Given the description of an element on the screen output the (x, y) to click on. 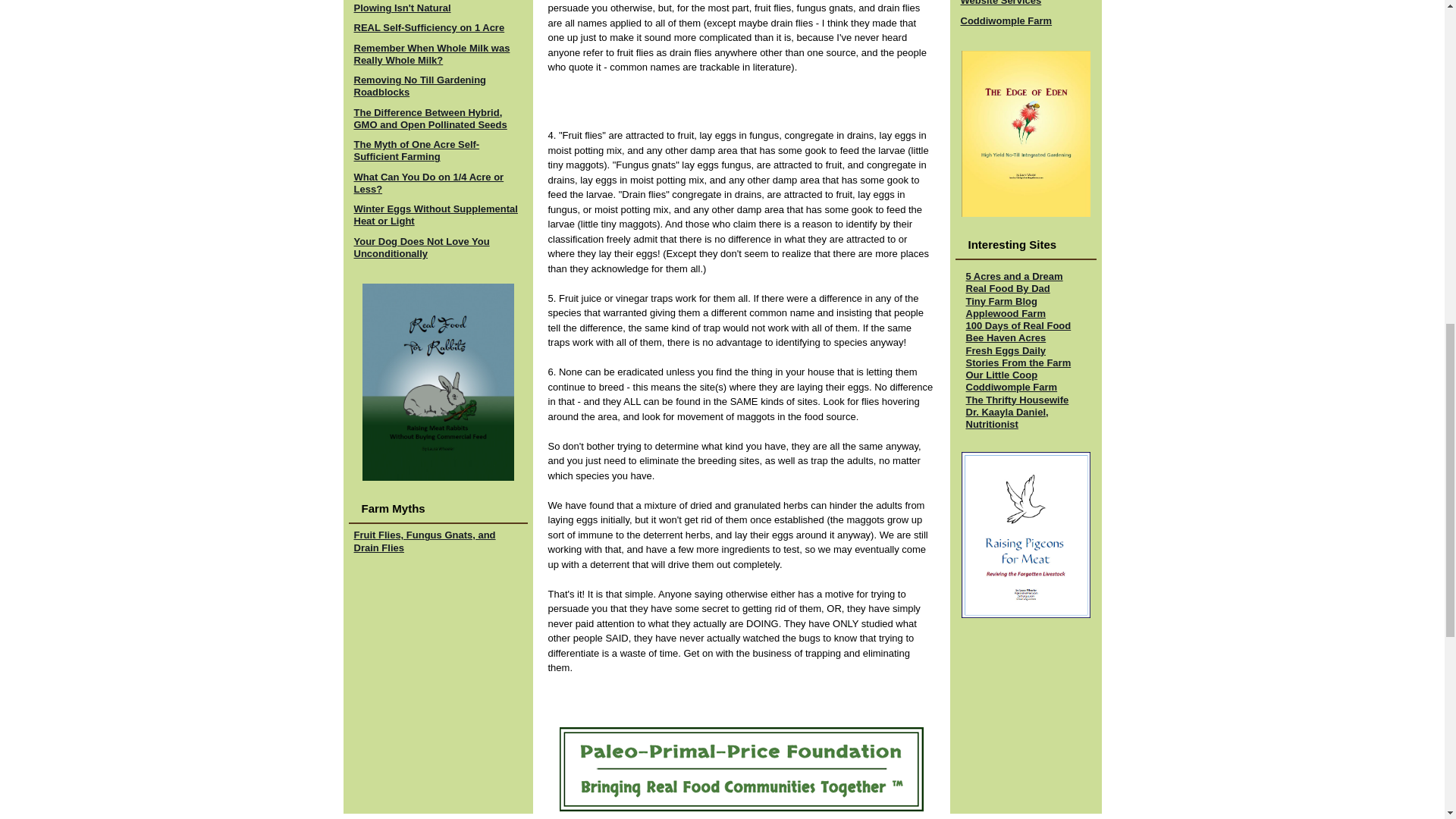
Fruit Flies, Fungus Gnats, and Drain Flies (424, 540)
Your Dog Does Not Love You Unconditionally (421, 246)
Removing No Till Gardening Roadblocks (419, 85)
The Difference Between Hybrid, GMO and Open Pollinated Seeds (429, 117)
Winter Eggs Without Supplemental Heat or Light (434, 214)
Frugal tips for a thrifty home. (1017, 399)
Plowing Isn't Natural (401, 7)
Remember When Whole Milk was Really Whole Milk? (431, 54)
REAL Self-Sufficiency on 1 Acre (428, 27)
The Myth of One Acre Self-Sufficient Farming (416, 150)
